Given the description of an element on the screen output the (x, y) to click on. 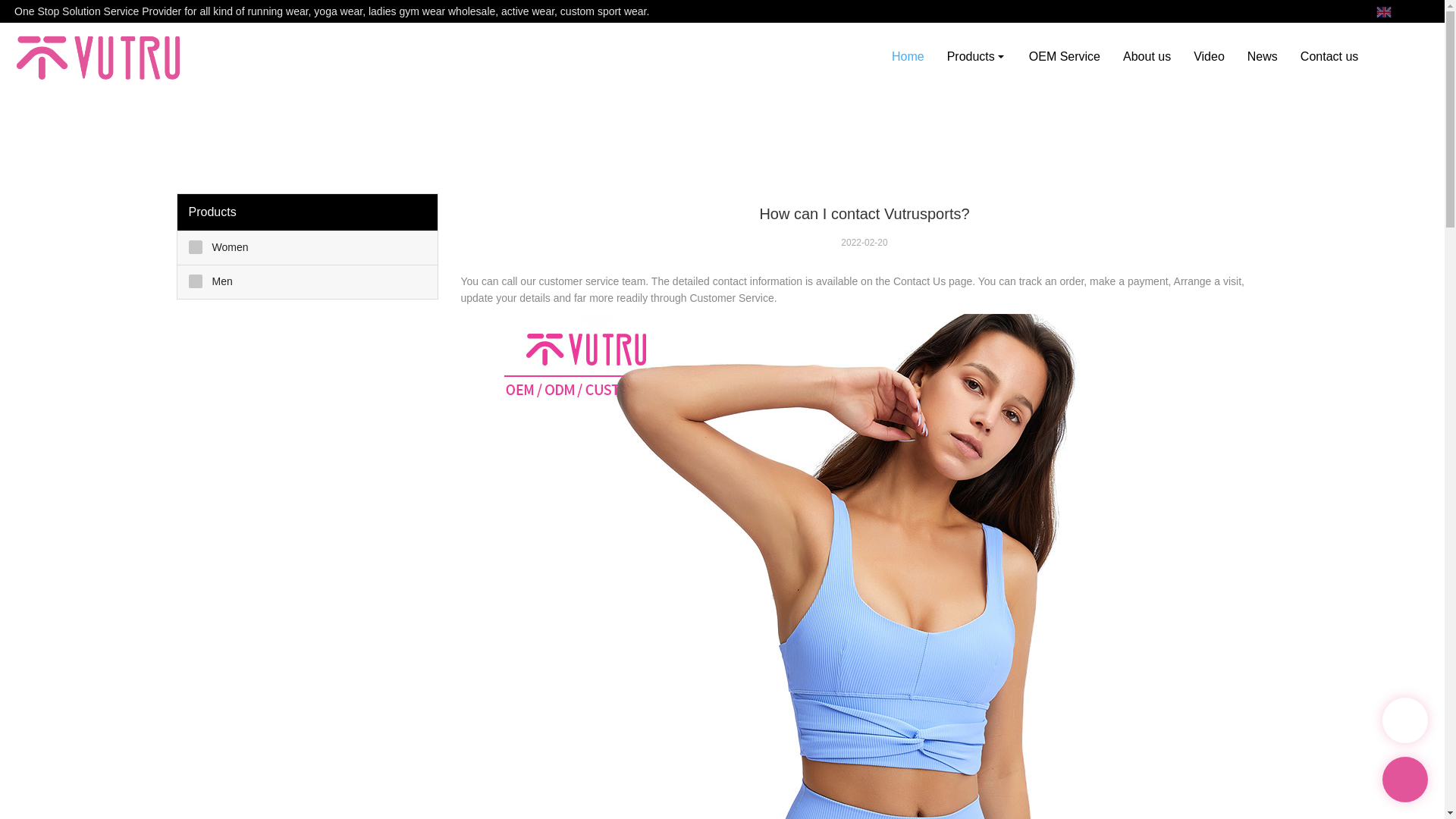
About us (1147, 56)
Women (307, 247)
OEM Service (1064, 56)
Products (976, 56)
Contact us (1329, 56)
